Given the description of an element on the screen output the (x, y) to click on. 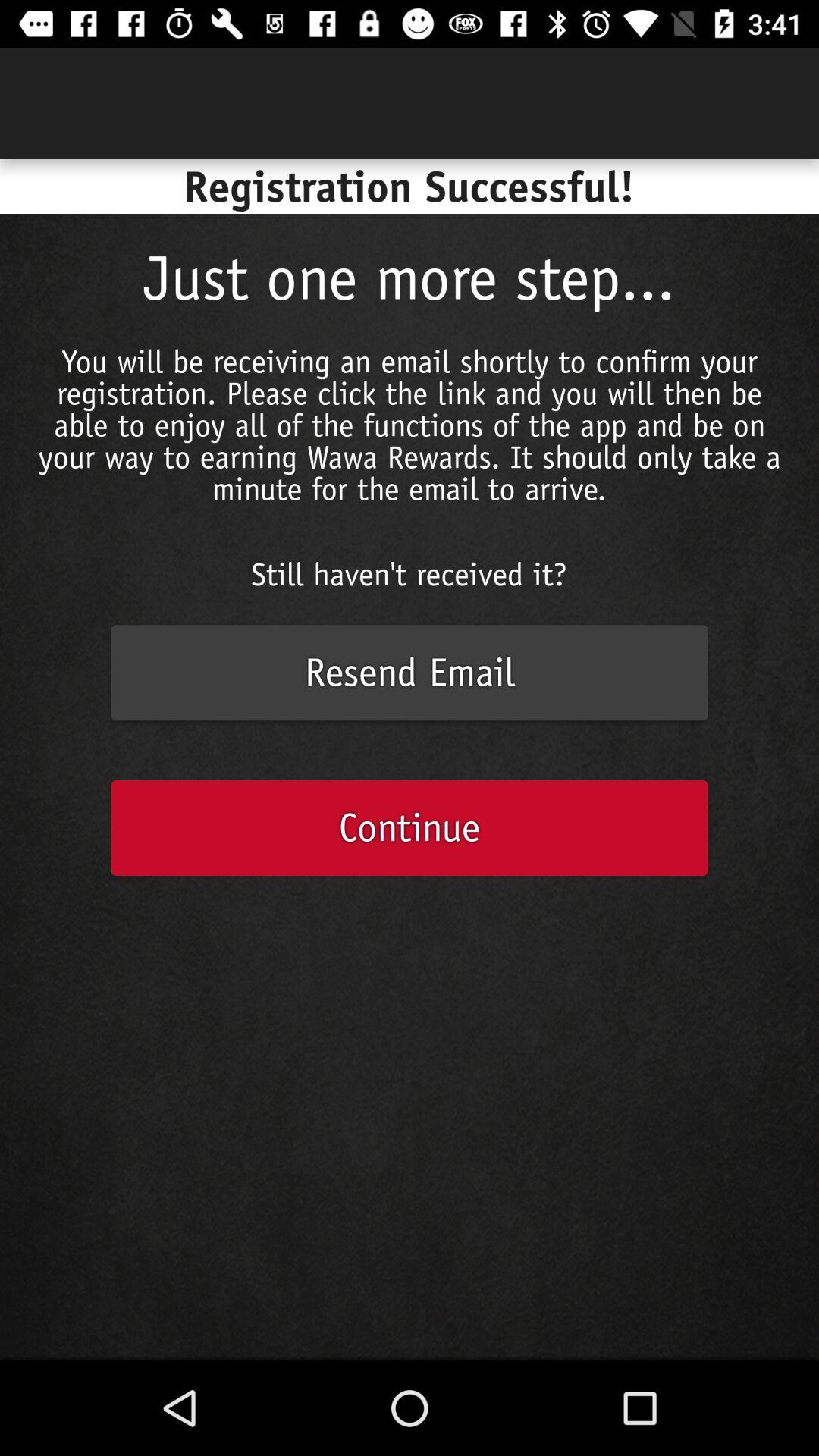
tap the icon above the continue (409, 672)
